Given the description of an element on the screen output the (x, y) to click on. 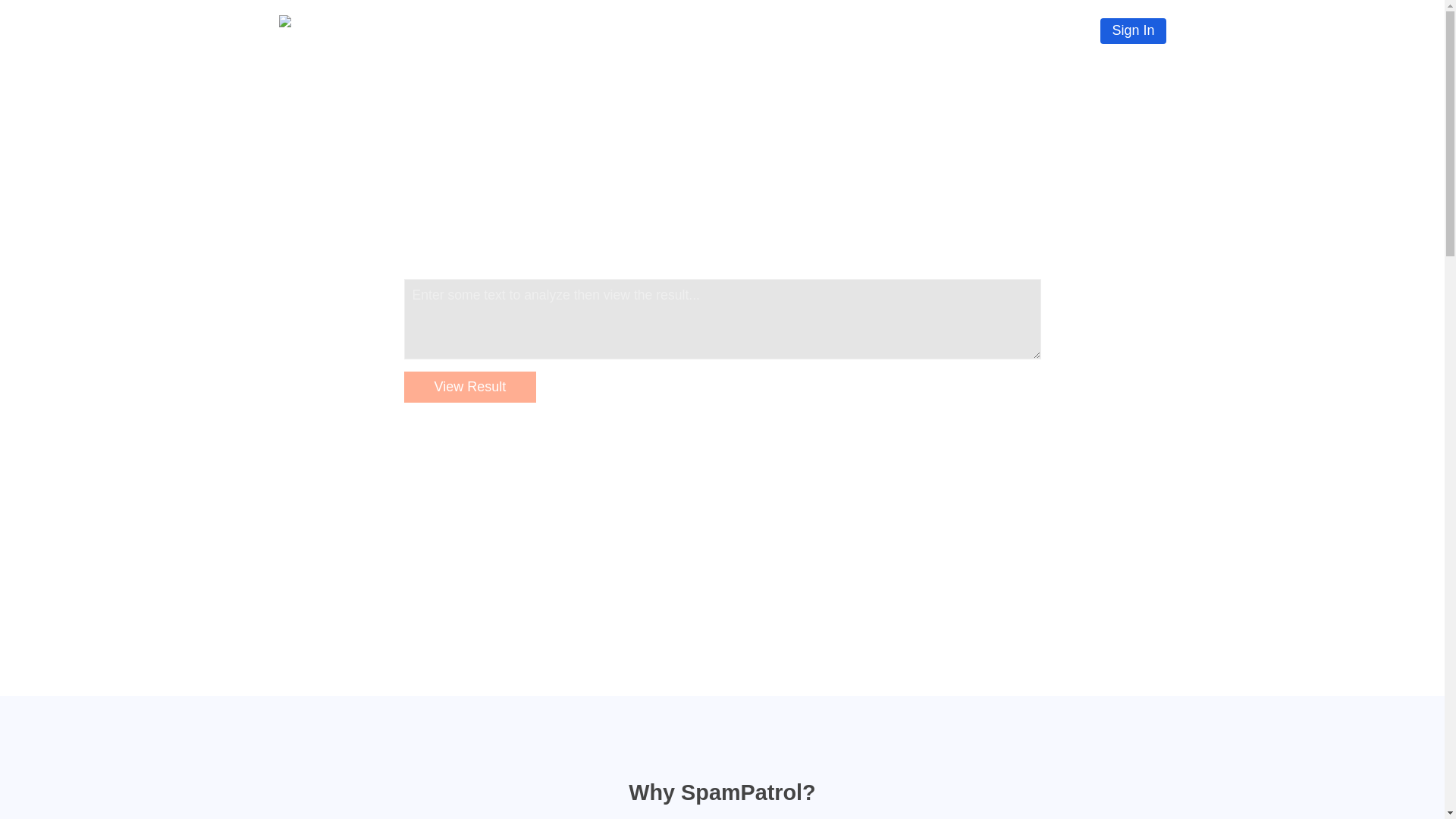
Home (799, 30)
View Result (469, 387)
Contact (1054, 30)
Sign In (1133, 31)
Pricing (933, 30)
Solution (864, 30)
Docs (992, 30)
Contact (1054, 30)
Pricing (933, 30)
Solution (864, 30)
